Given the description of an element on the screen output the (x, y) to click on. 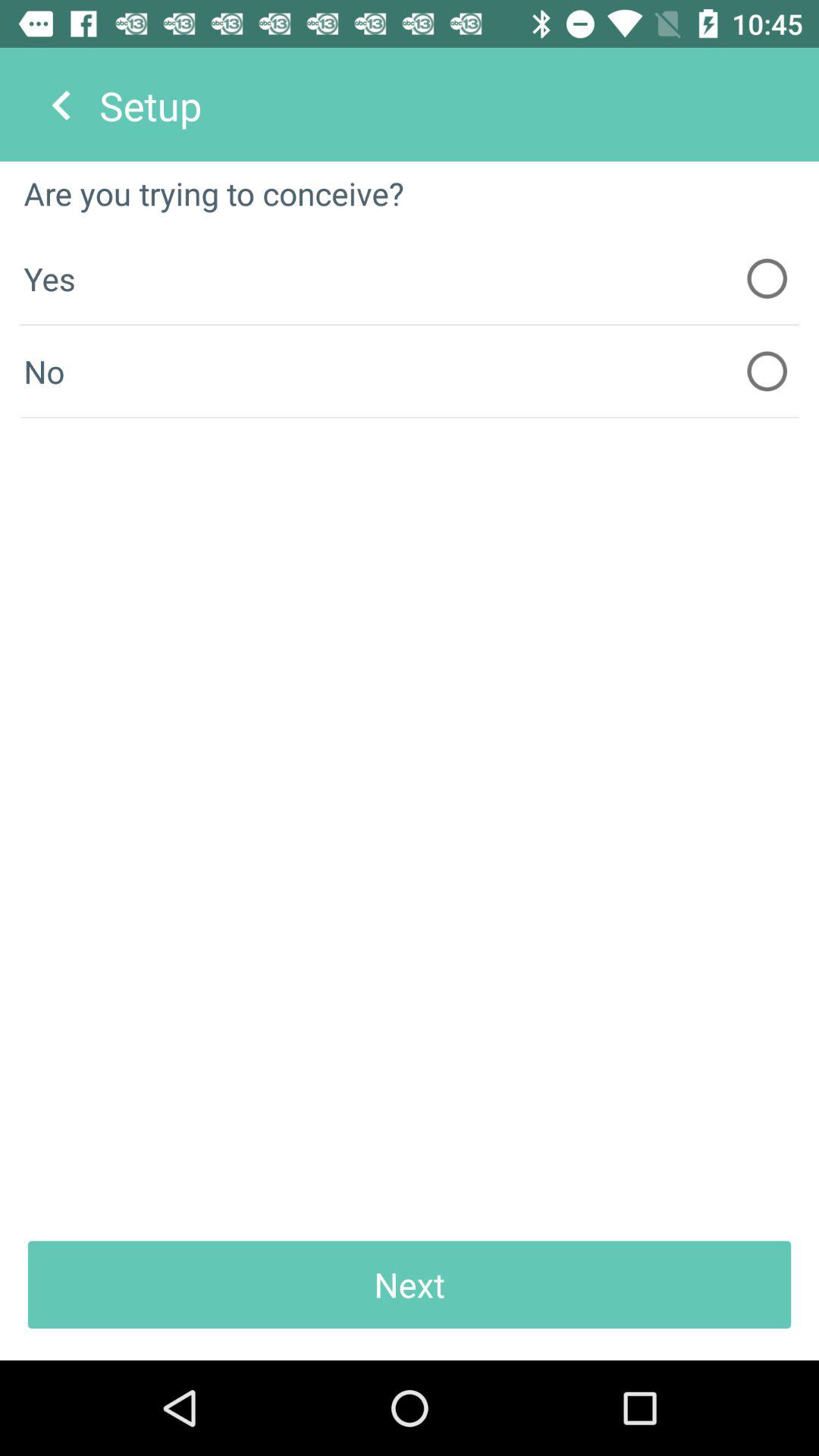
scroll until next icon (409, 1284)
